Given the description of an element on the screen output the (x, y) to click on. 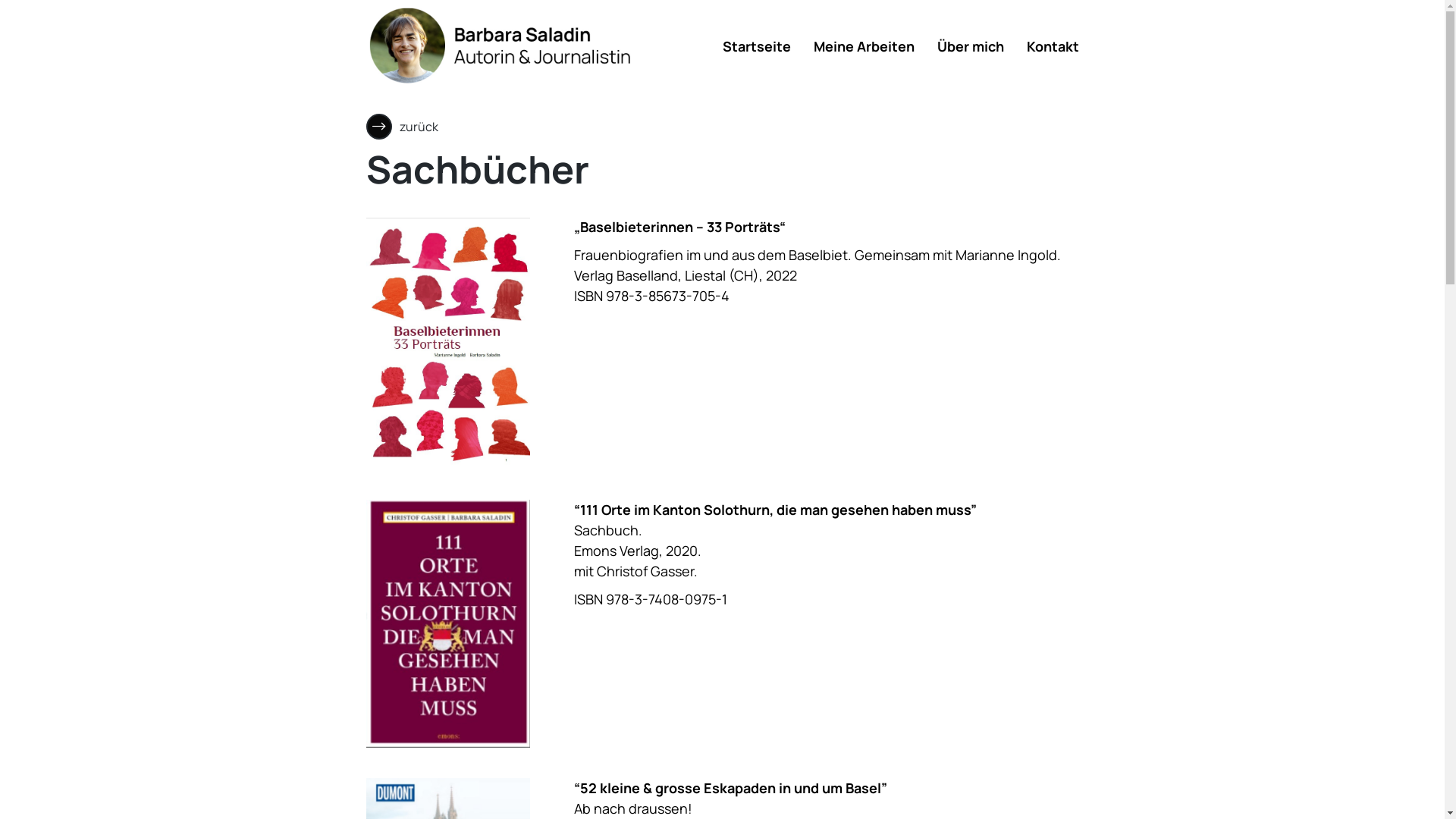
Kontakt Element type: text (1052, 46)
Startseite Element type: text (755, 46)
Barbara Saladin Element type: hover (501, 45)
Meine Arbeiten Element type: text (862, 46)
